Given the description of an element on the screen output the (x, y) to click on. 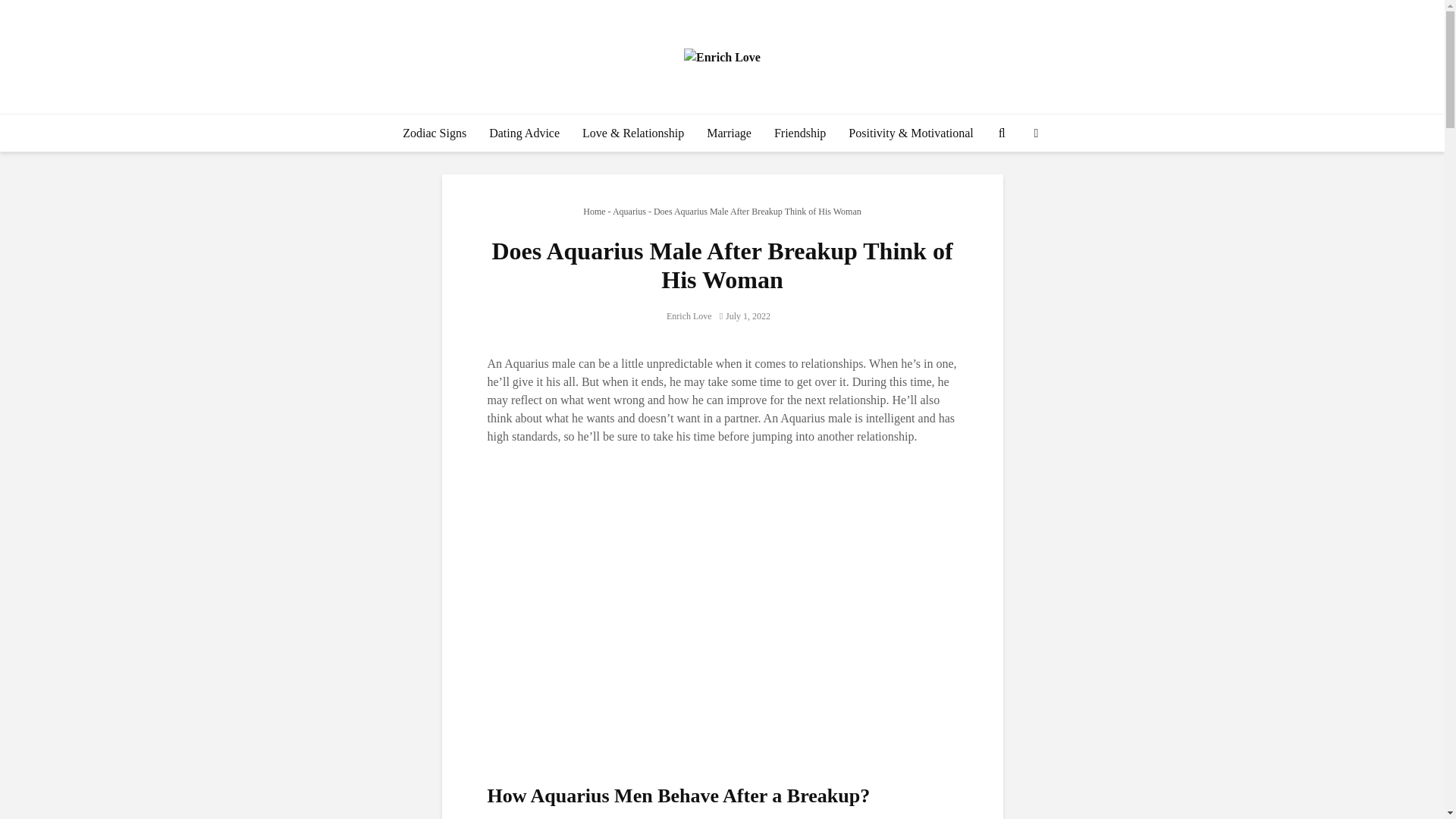
Friendship (799, 133)
Dating Advice (523, 133)
Zodiac Signs (434, 133)
Aquarius (629, 211)
Home (594, 211)
Marriage (728, 133)
Enrich Love (688, 316)
